Given the description of an element on the screen output the (x, y) to click on. 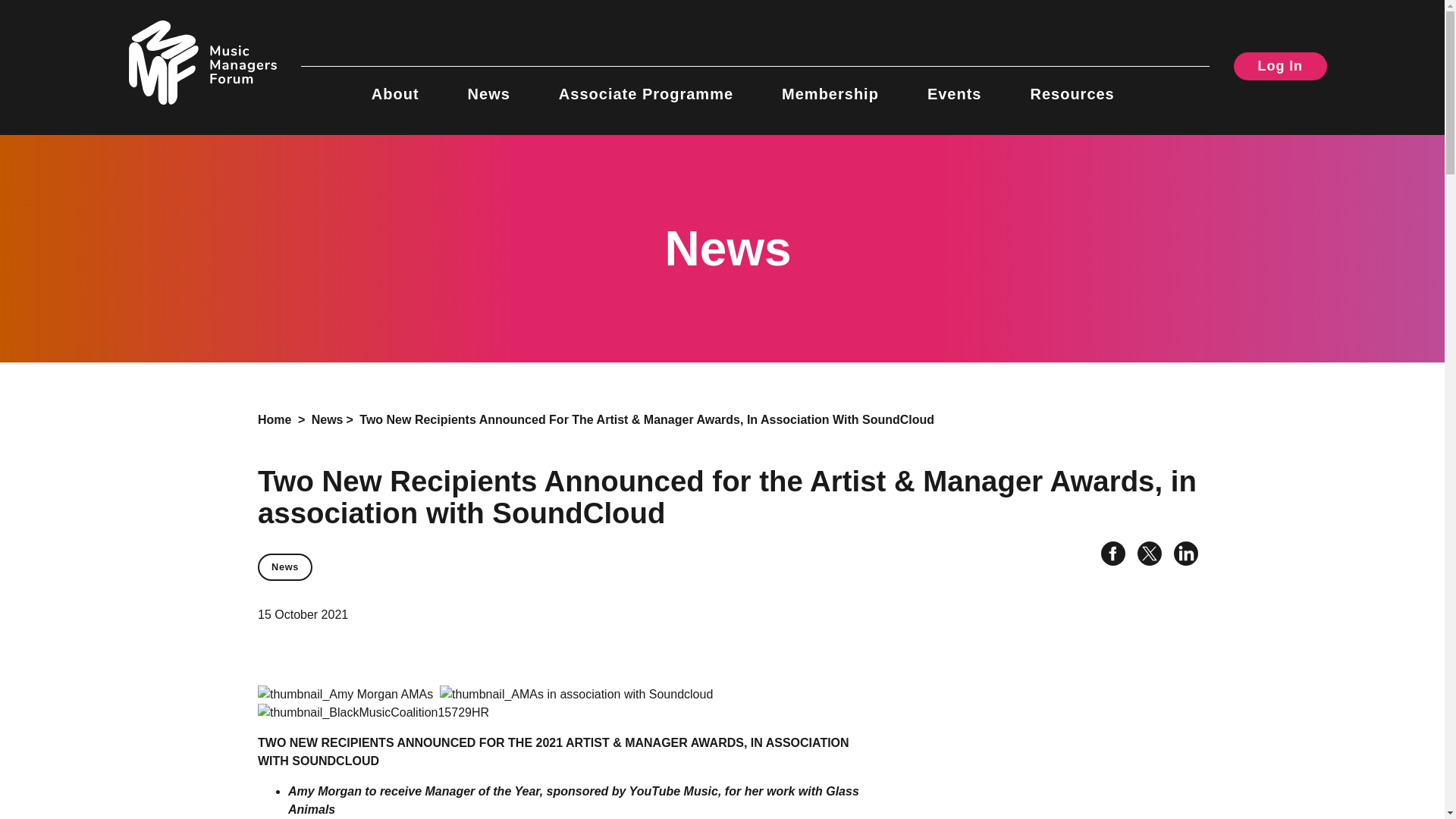
Membership (830, 85)
Share on twitter (1143, 555)
News (285, 566)
Resources (1071, 85)
About (395, 85)
News (327, 419)
Share on linked in (1179, 555)
Associate Programme (646, 85)
Events (954, 85)
Log In (1279, 66)
